Given the description of an element on the screen output the (x, y) to click on. 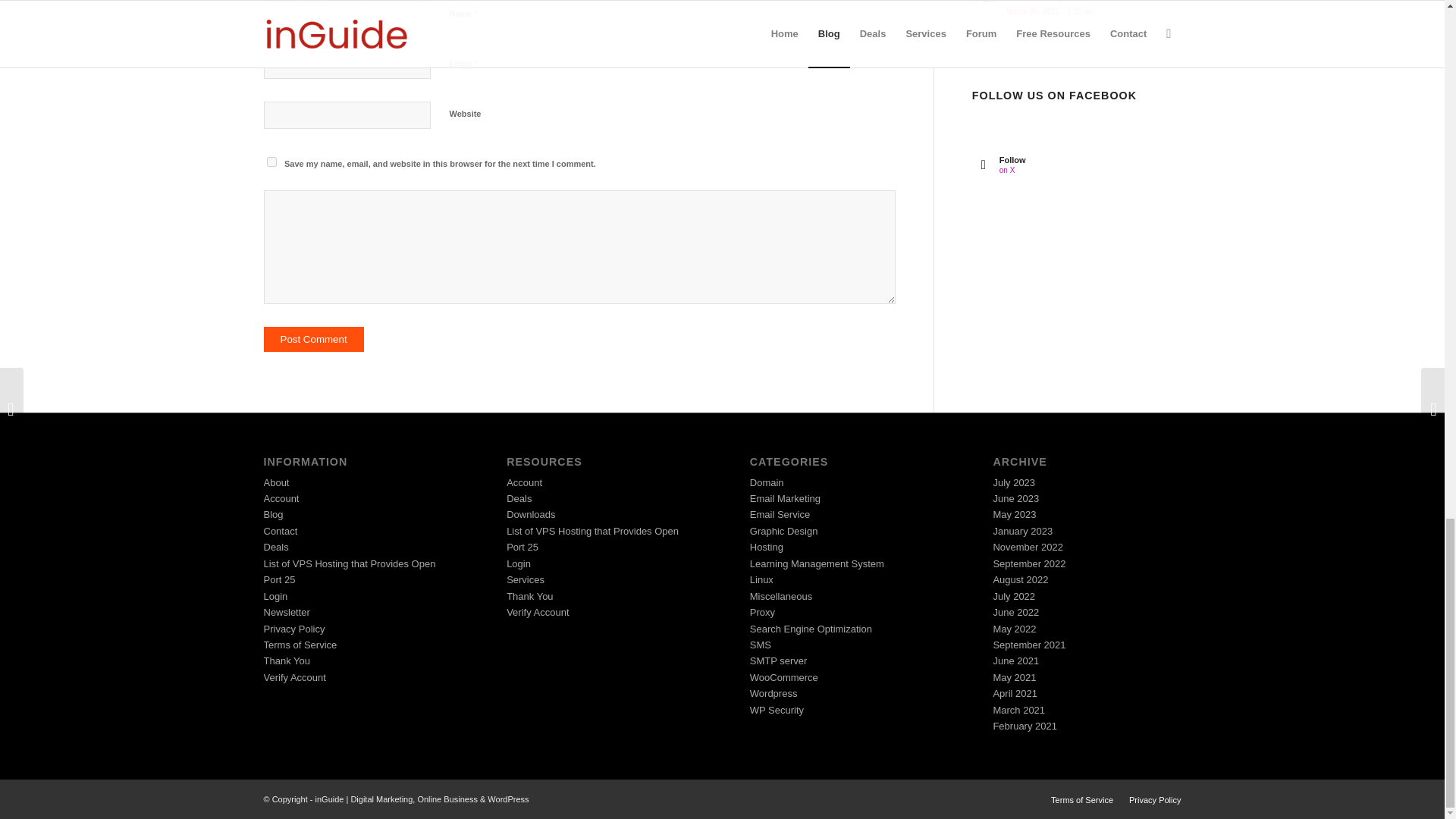
Post Comment (313, 339)
1 (456, 195)
yes (271, 162)
Post Comment (313, 339)
